Given the description of an element on the screen output the (x, y) to click on. 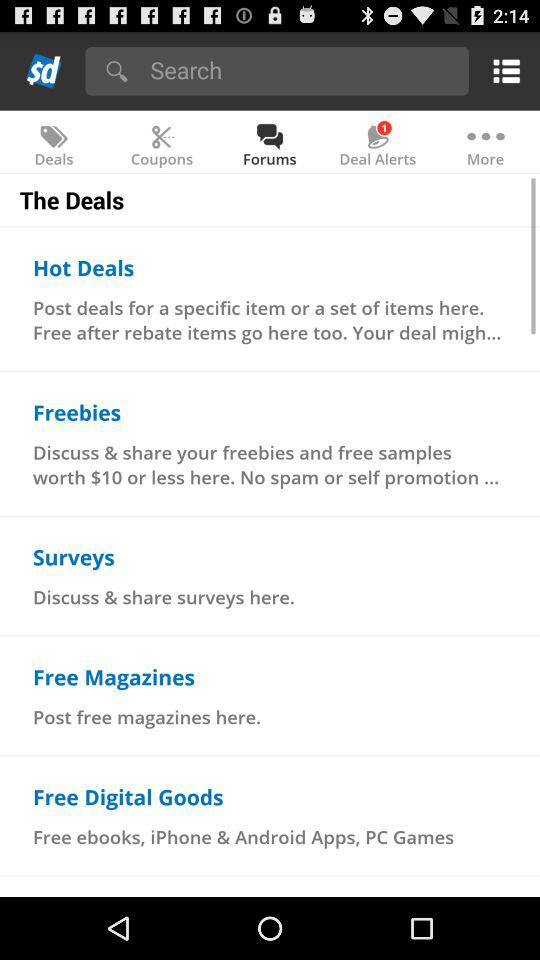
press the item above the freebies item (270, 319)
